Given the description of an element on the screen output the (x, y) to click on. 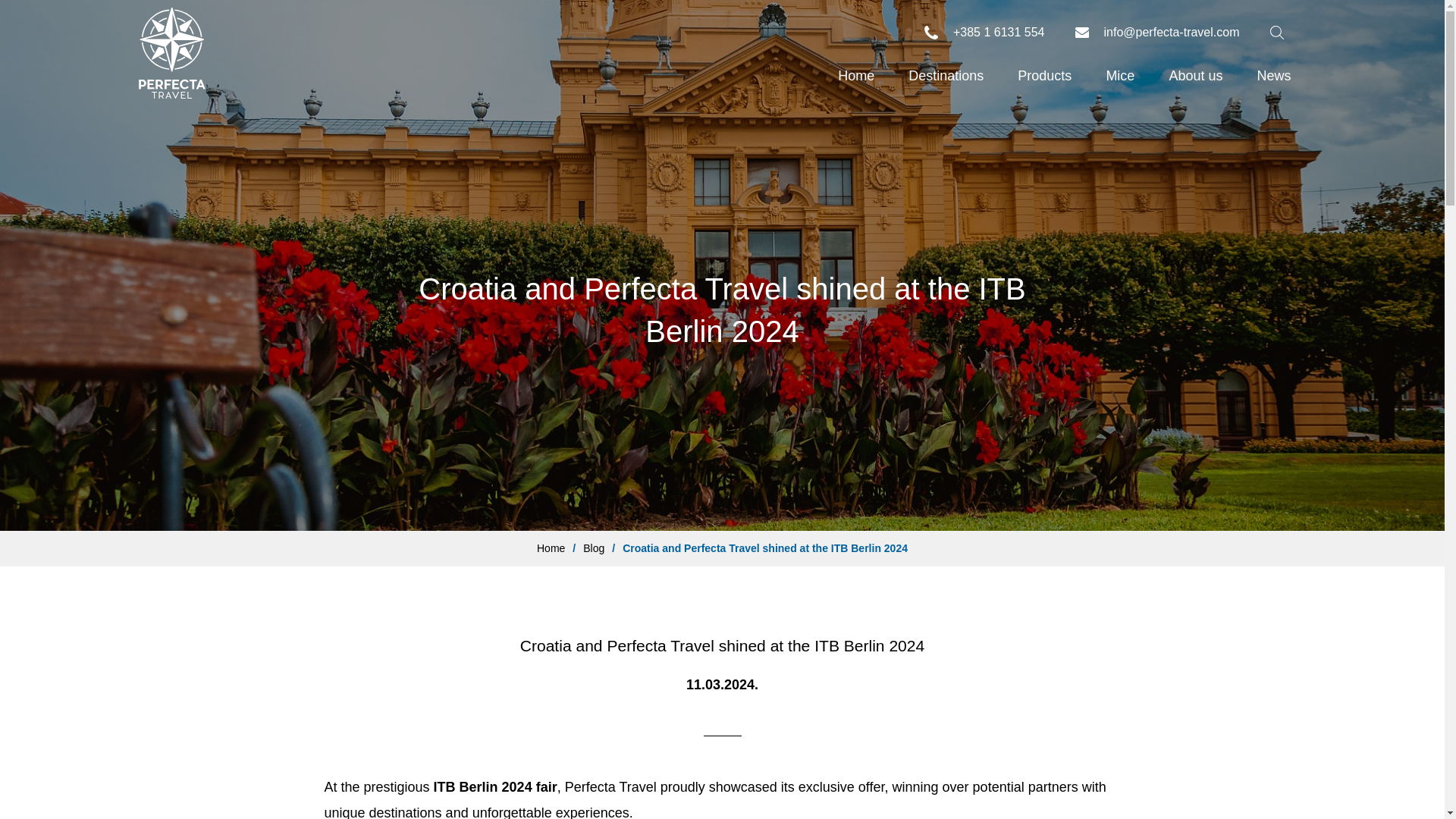
About us (1195, 75)
Home (855, 75)
Home (550, 548)
Products (1044, 75)
News (1273, 75)
Blog (593, 548)
Destinations (945, 75)
Mice (1120, 75)
